Given the description of an element on the screen output the (x, y) to click on. 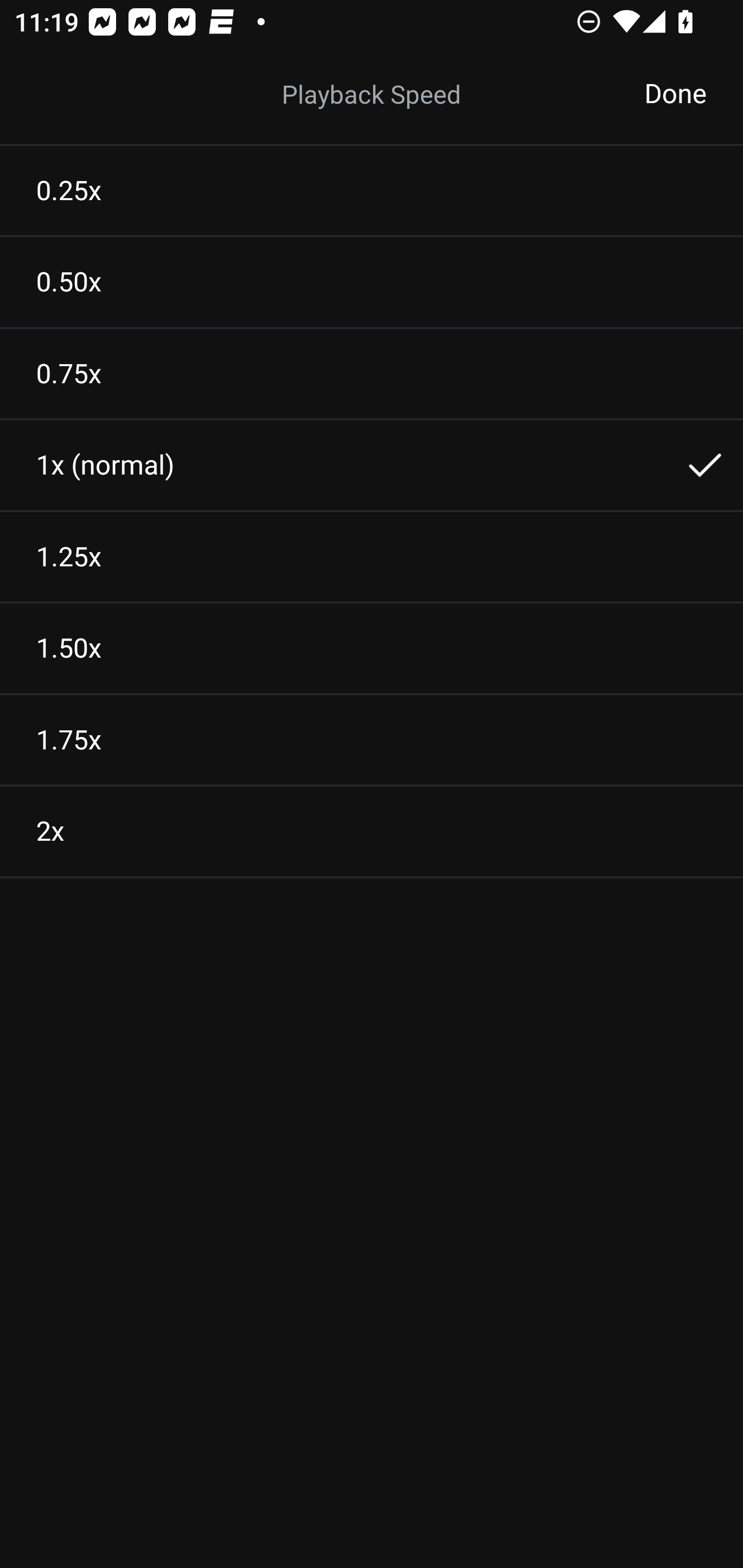
Listening (371, 93)
Done (675, 93)
0.25x (371, 190)
0.50x (371, 281)
0.75x (371, 373)
1x (normal) (371, 464)
1.25x (371, 557)
1.50x (371, 648)
1.75x (371, 739)
2x (371, 831)
